Given the description of an element on the screen output the (x, y) to click on. 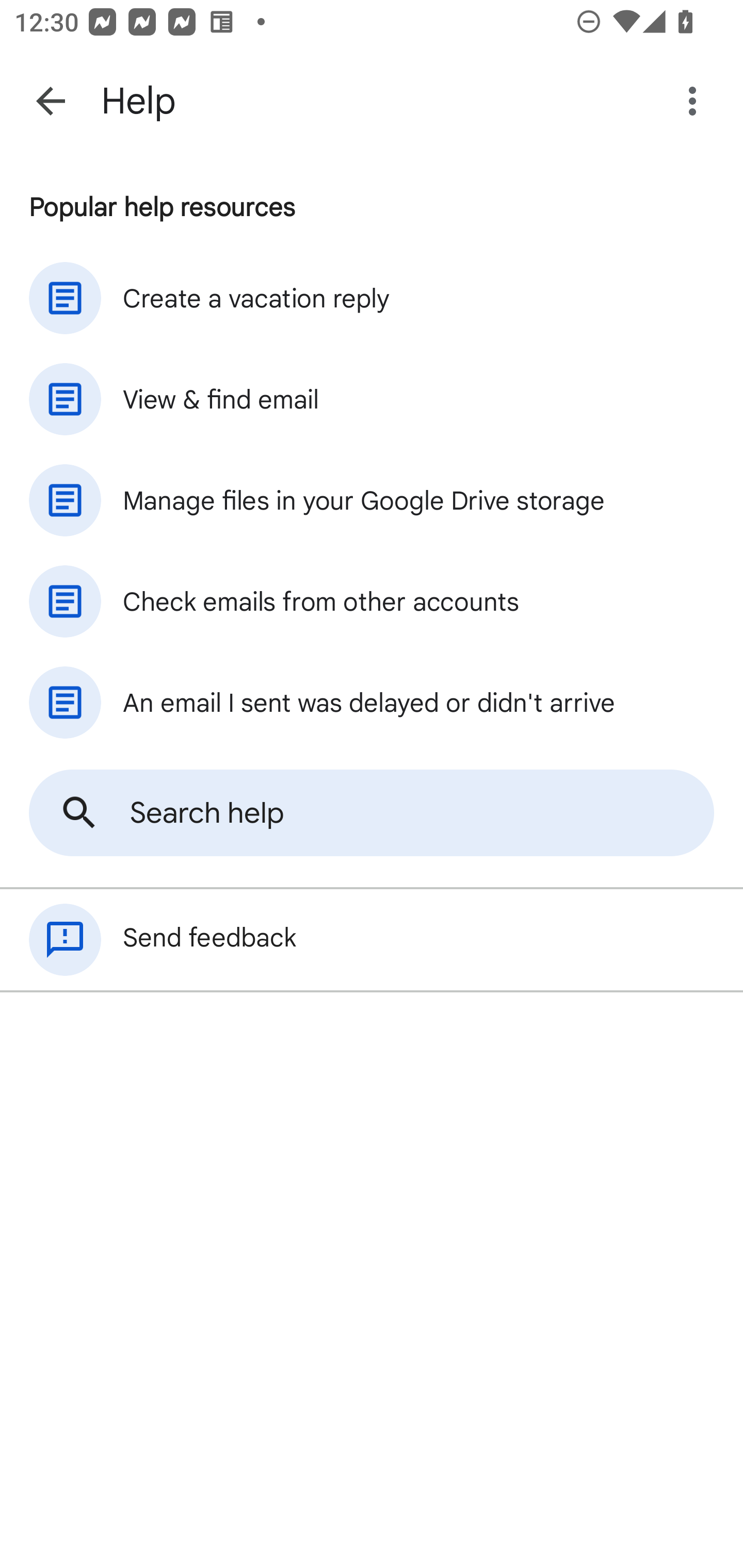
Navigate up (50, 101)
More options (696, 101)
Create a vacation reply (371, 297)
View & find email (371, 399)
Manage files in your Google Drive storage (371, 500)
Check emails from other accounts (371, 601)
An email I sent was delayed or didn't arrive (371, 702)
Search help (371, 812)
Send feedback (371, 939)
